Given the description of an element on the screen output the (x, y) to click on. 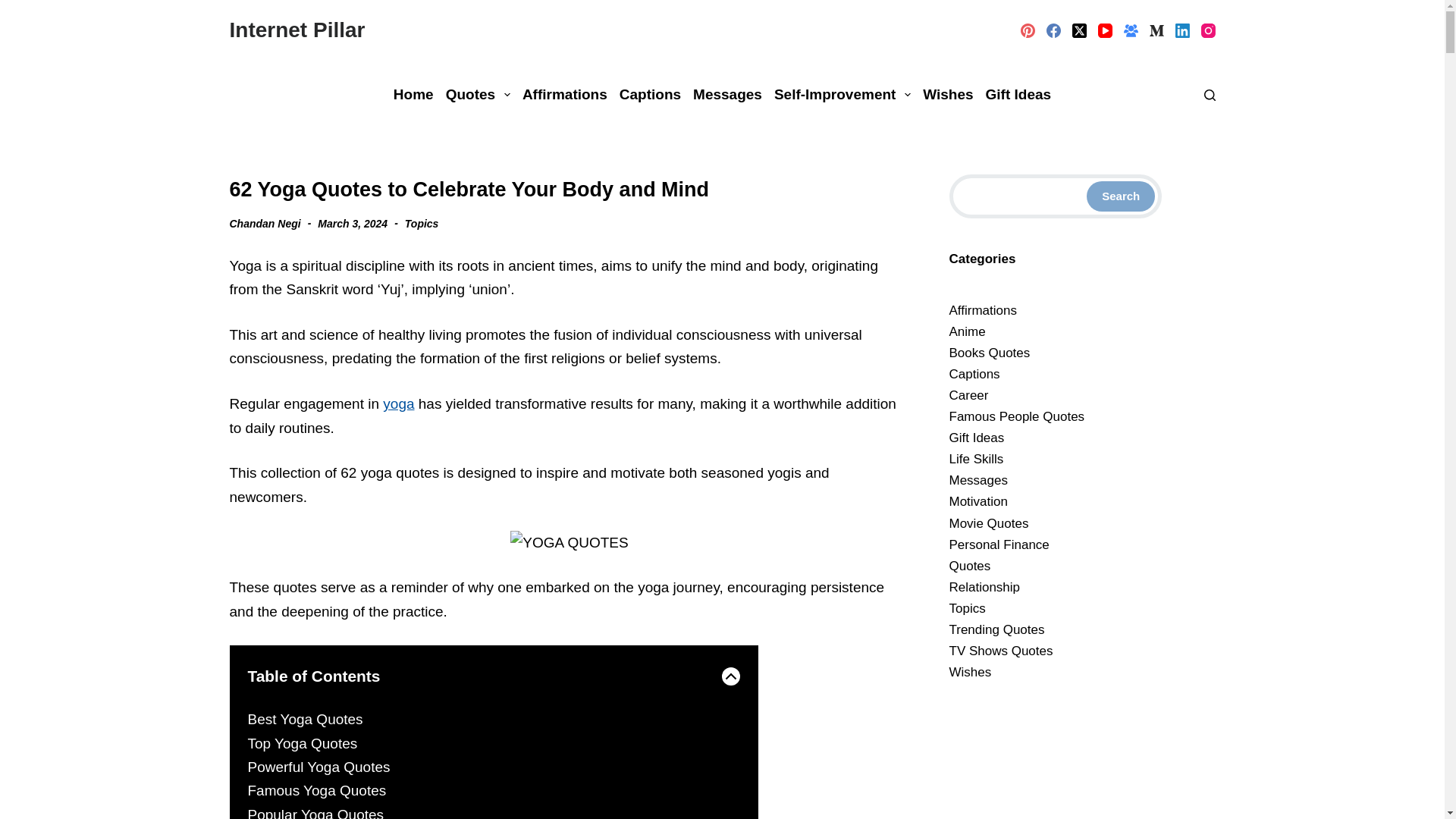
Skip to content (15, 7)
62 Yoga Quotes to Celebrate Your Body and Mind (568, 189)
Quotes (477, 94)
Posts by Chandan Negi (263, 223)
Internet Pillar (296, 29)
